Given the description of an element on the screen output the (x, y) to click on. 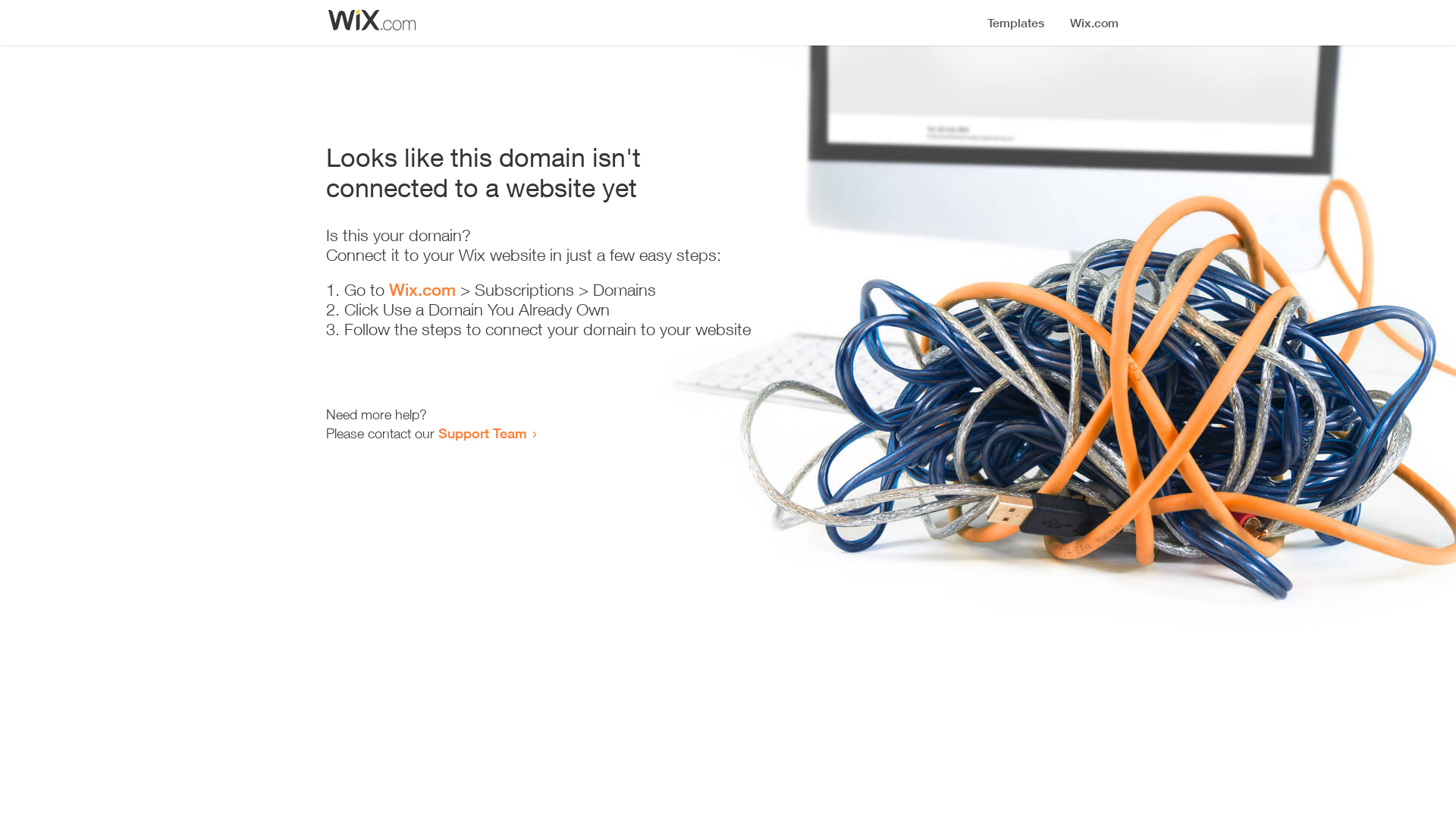
Support Team Element type: text (482, 432)
Wix.com Element type: text (422, 289)
